Given the description of an element on the screen output the (x, y) to click on. 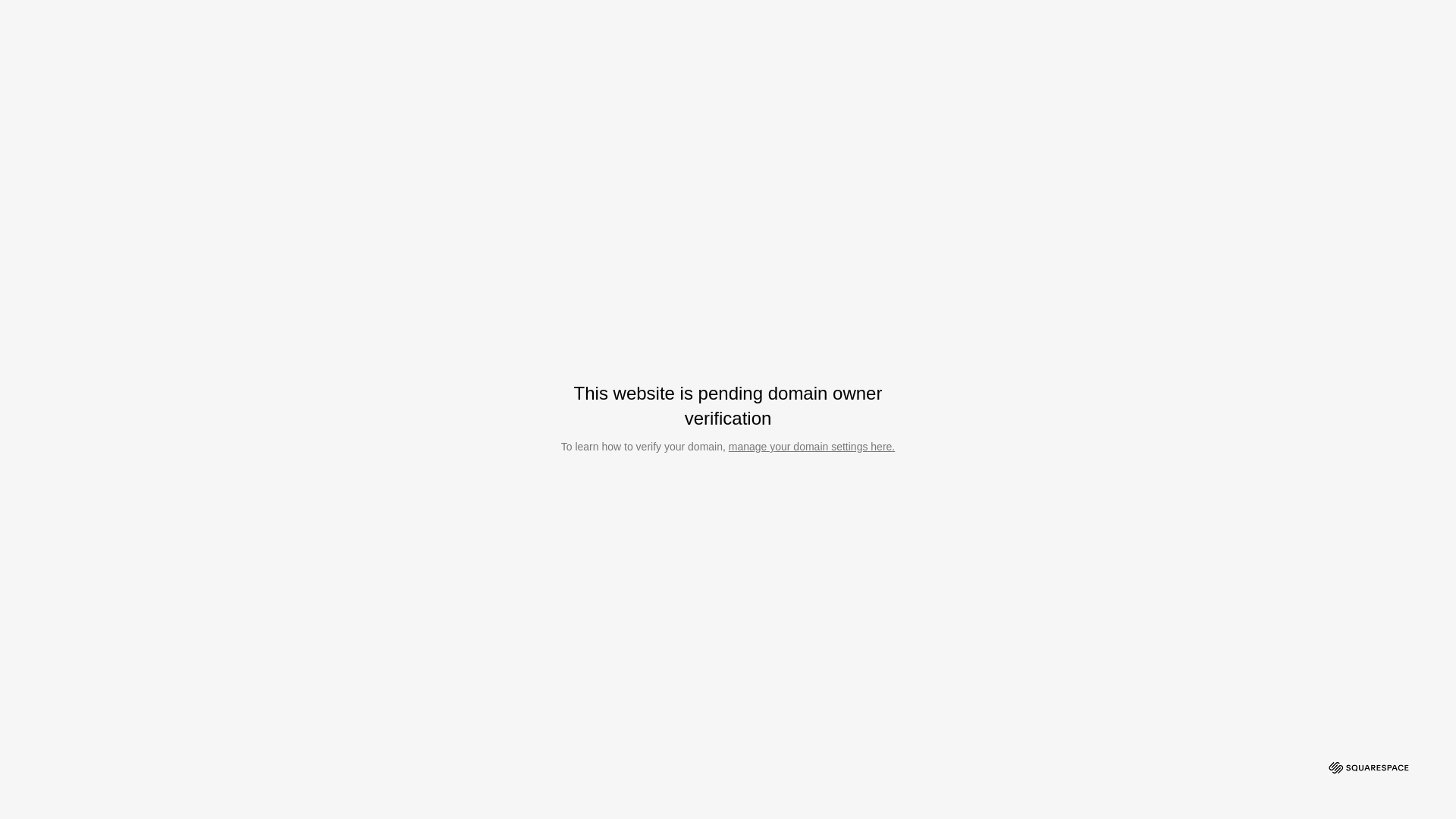
manage your domain settings here. Element type: text (811, 446)
